Given the description of an element on the screen output the (x, y) to click on. 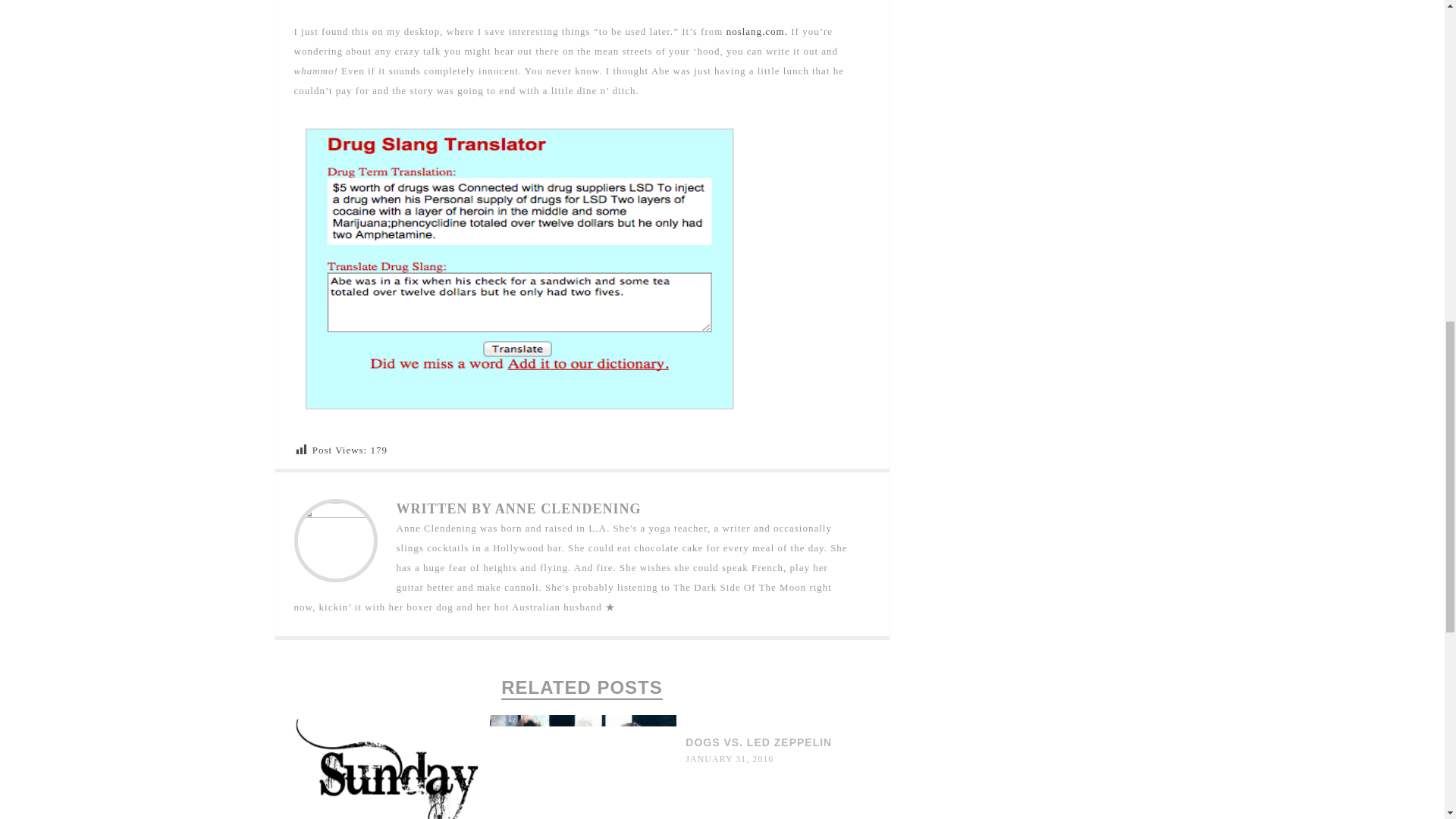
JANUARY 31, 2016 (729, 758)
Permanent Link to Dogs vs. Led Zeppelin (758, 742)
DOGS VS. LED ZEPPELIN (758, 742)
noslang.com. (756, 30)
